Given the description of an element on the screen output the (x, y) to click on. 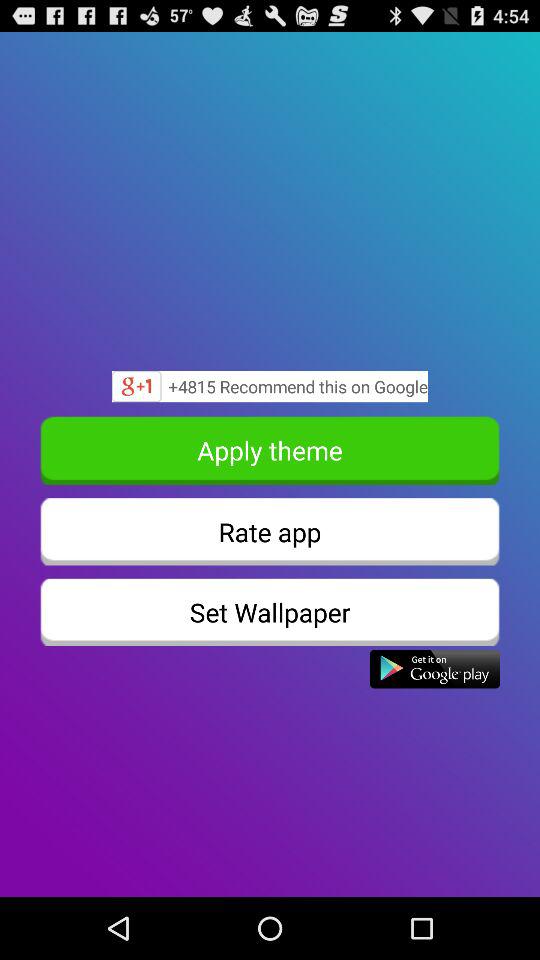
select set wallpaper item (269, 611)
